Given the description of an element on the screen output the (x, y) to click on. 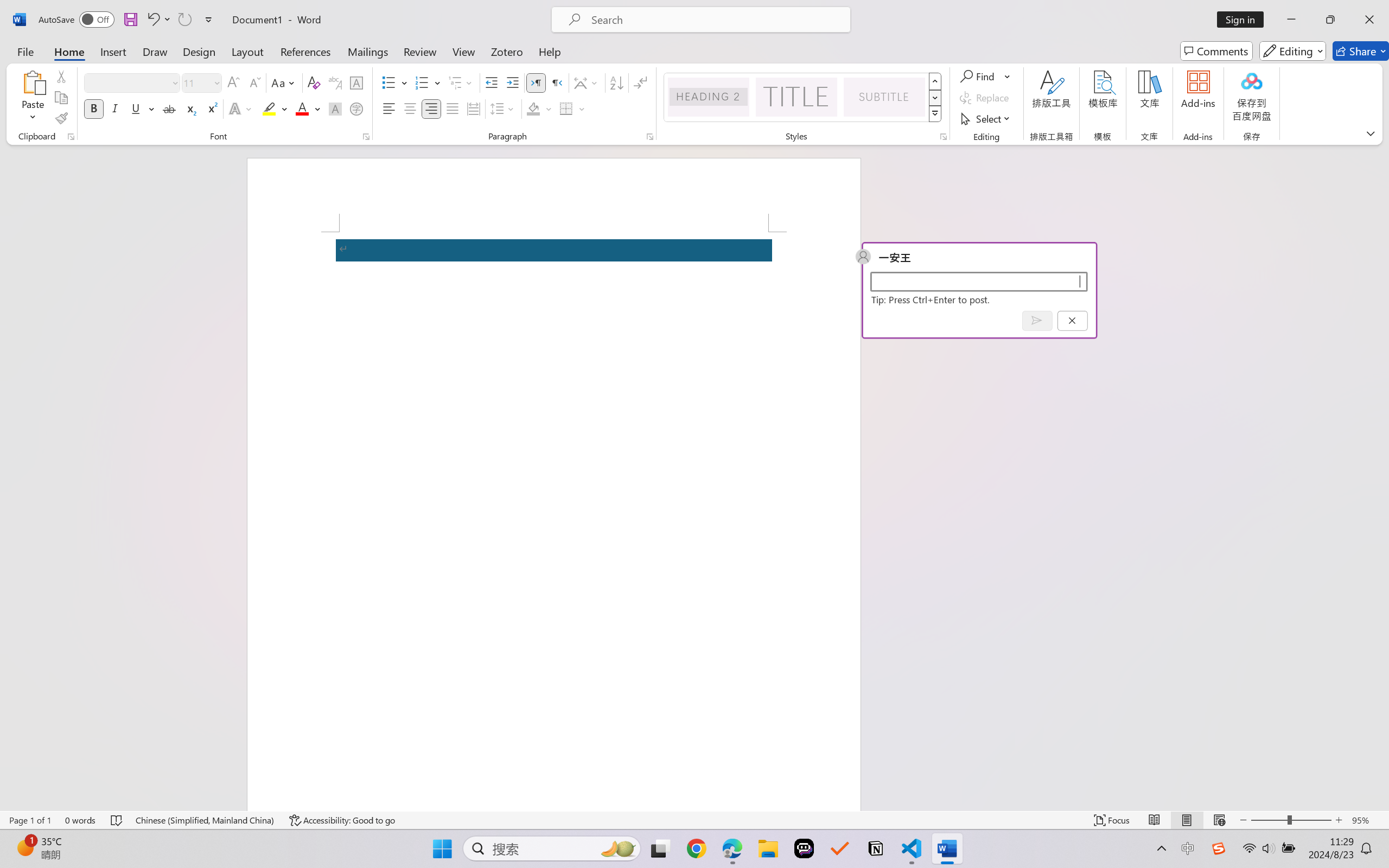
Title (796, 96)
